Given the description of an element on the screen output the (x, y) to click on. 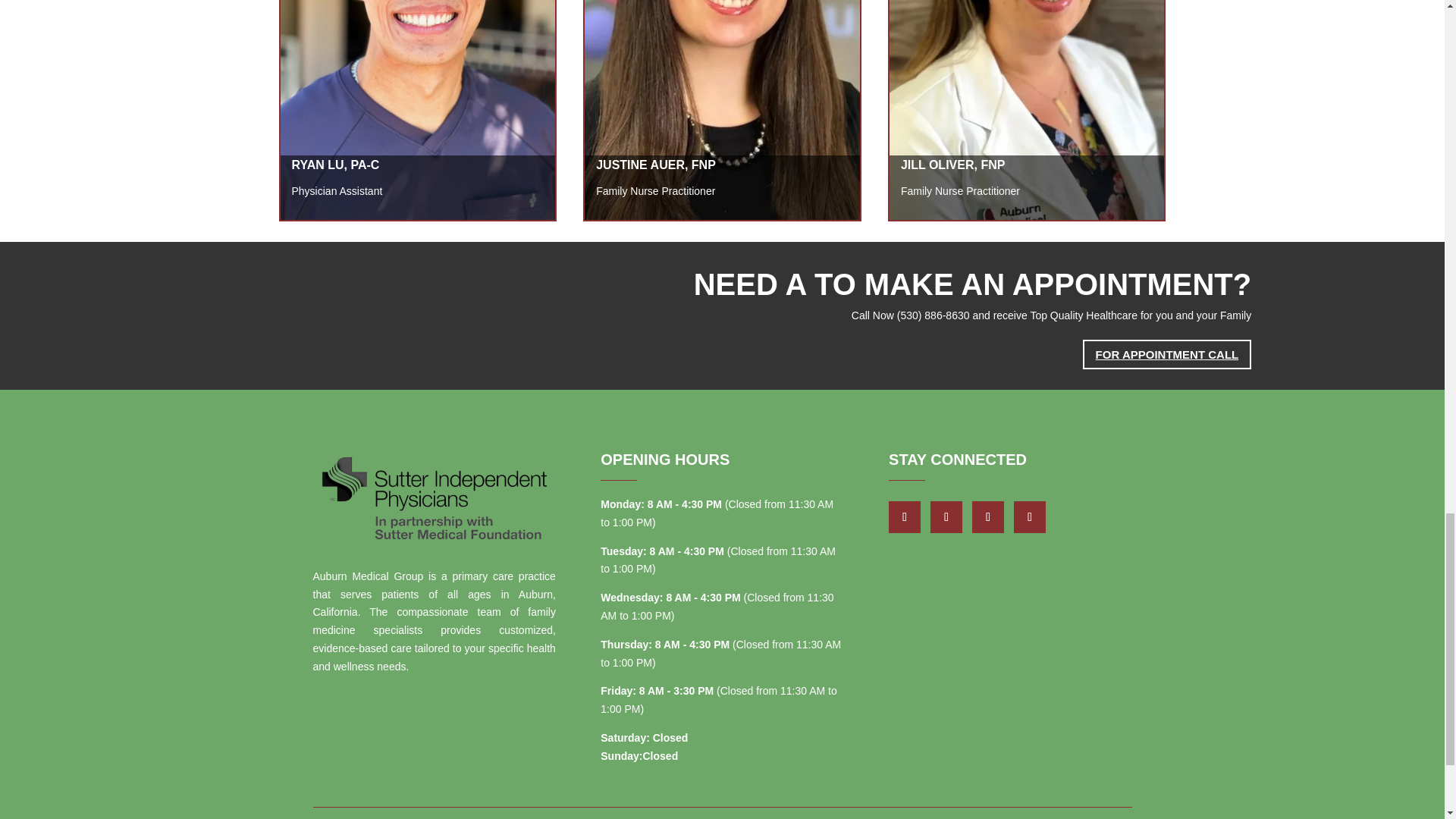
Follow on Youtube (988, 517)
Follow on RSS (1029, 517)
Follow on google-plus (946, 517)
Follow on Facebook (904, 517)
